Given the description of an element on the screen output the (x, y) to click on. 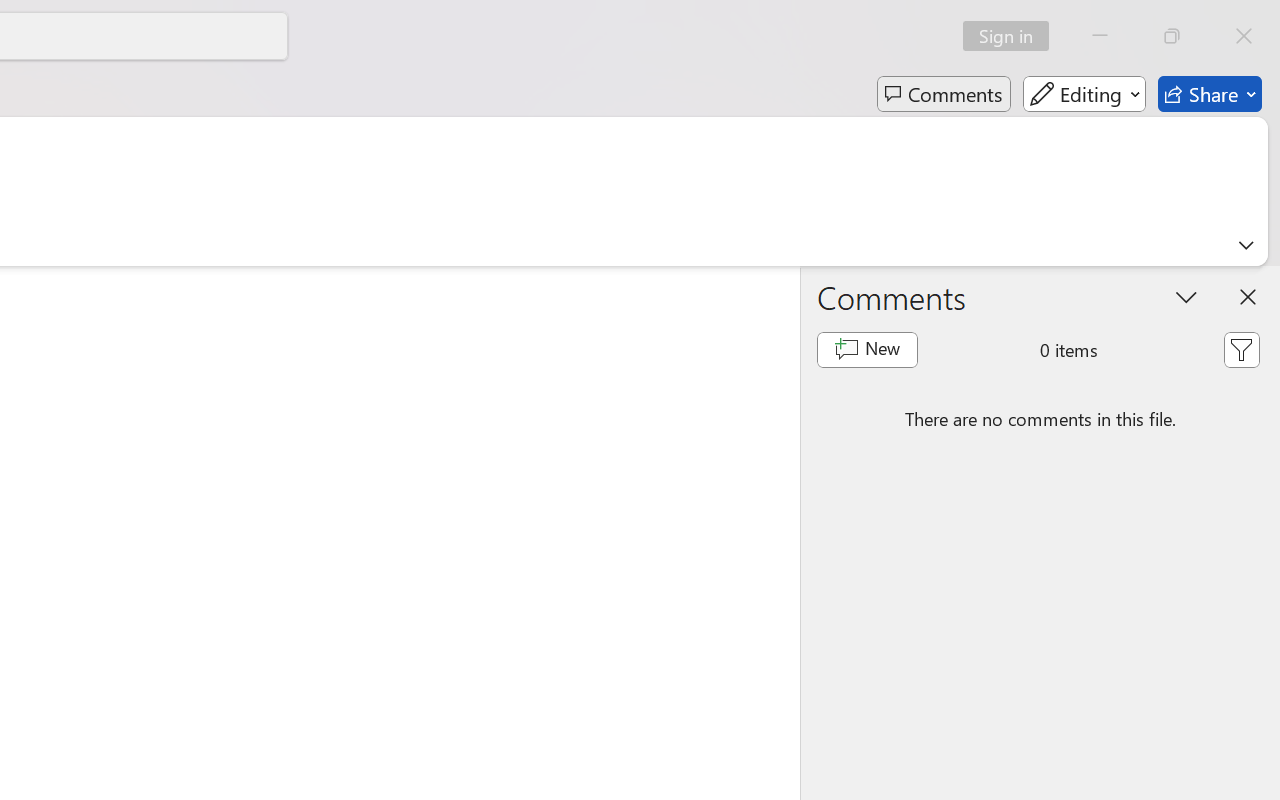
Filter (1241, 350)
New comment (866, 350)
